Given the description of an element on the screen output the (x, y) to click on. 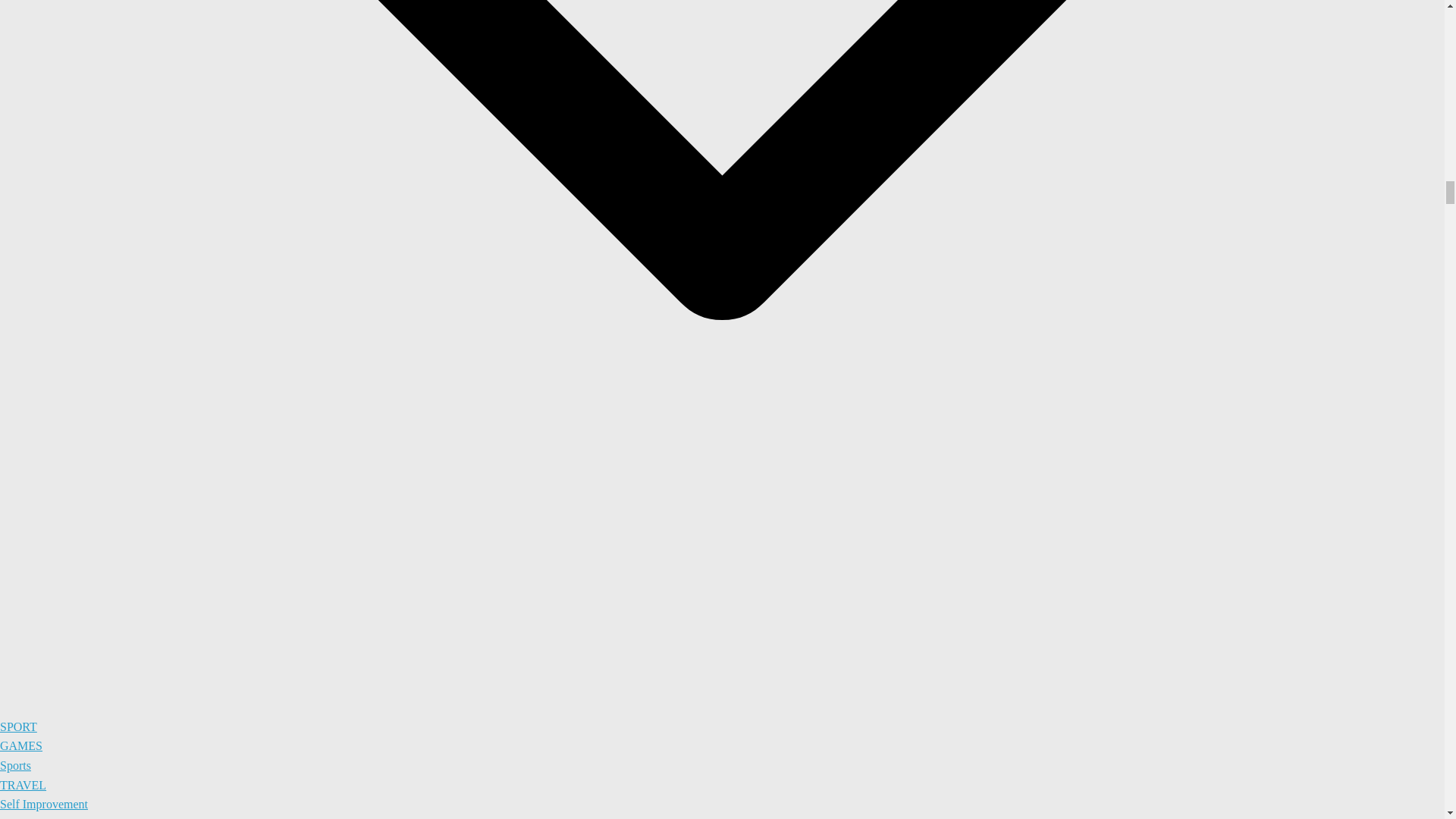
Sports (15, 765)
SPORT (18, 726)
GAMES (21, 745)
